Given the description of an element on the screen output the (x, y) to click on. 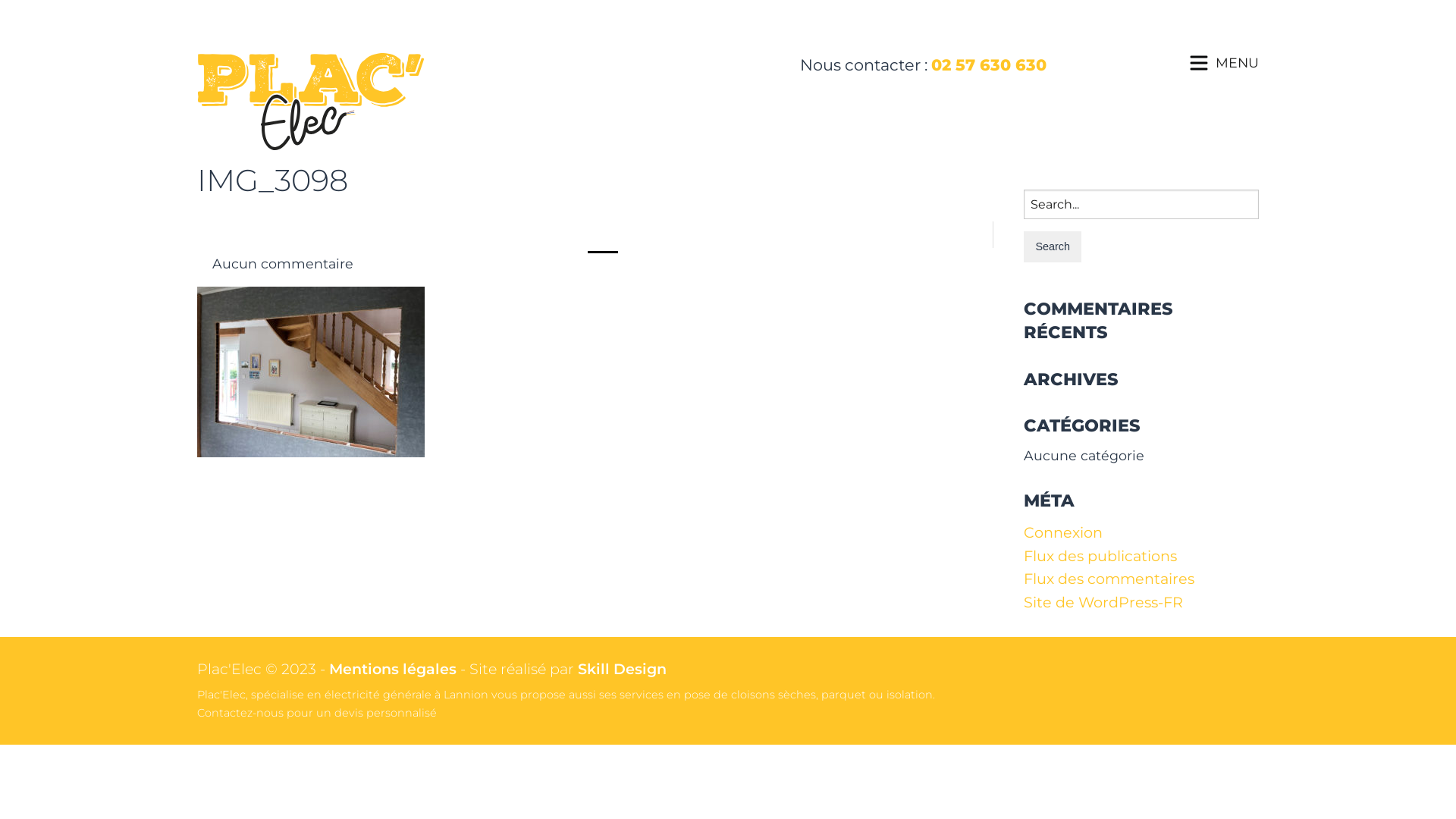
Flux des commentaires Element type: text (1108, 578)
Search Element type: text (1052, 246)
Site de WordPress-FR Element type: text (1103, 602)
Connexion Element type: text (1062, 532)
MENU Element type: text (1236, 62)
Search for: Element type: hover (1140, 204)
Skill Design Element type: text (621, 668)
Flux des publications Element type: text (1099, 555)
